Given the description of an element on the screen output the (x, y) to click on. 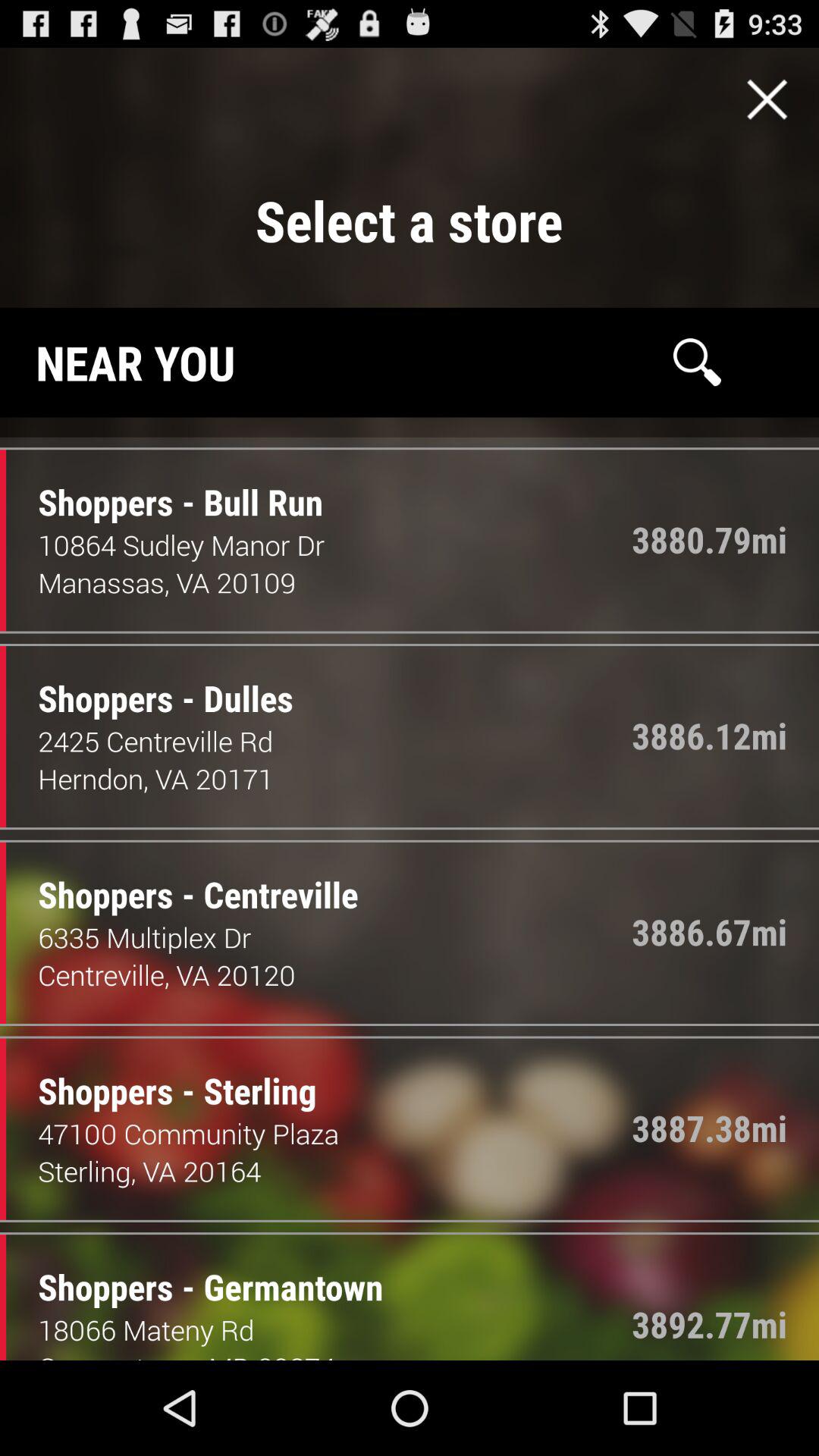
exit screen (767, 99)
